Given the description of an element on the screen output the (x, y) to click on. 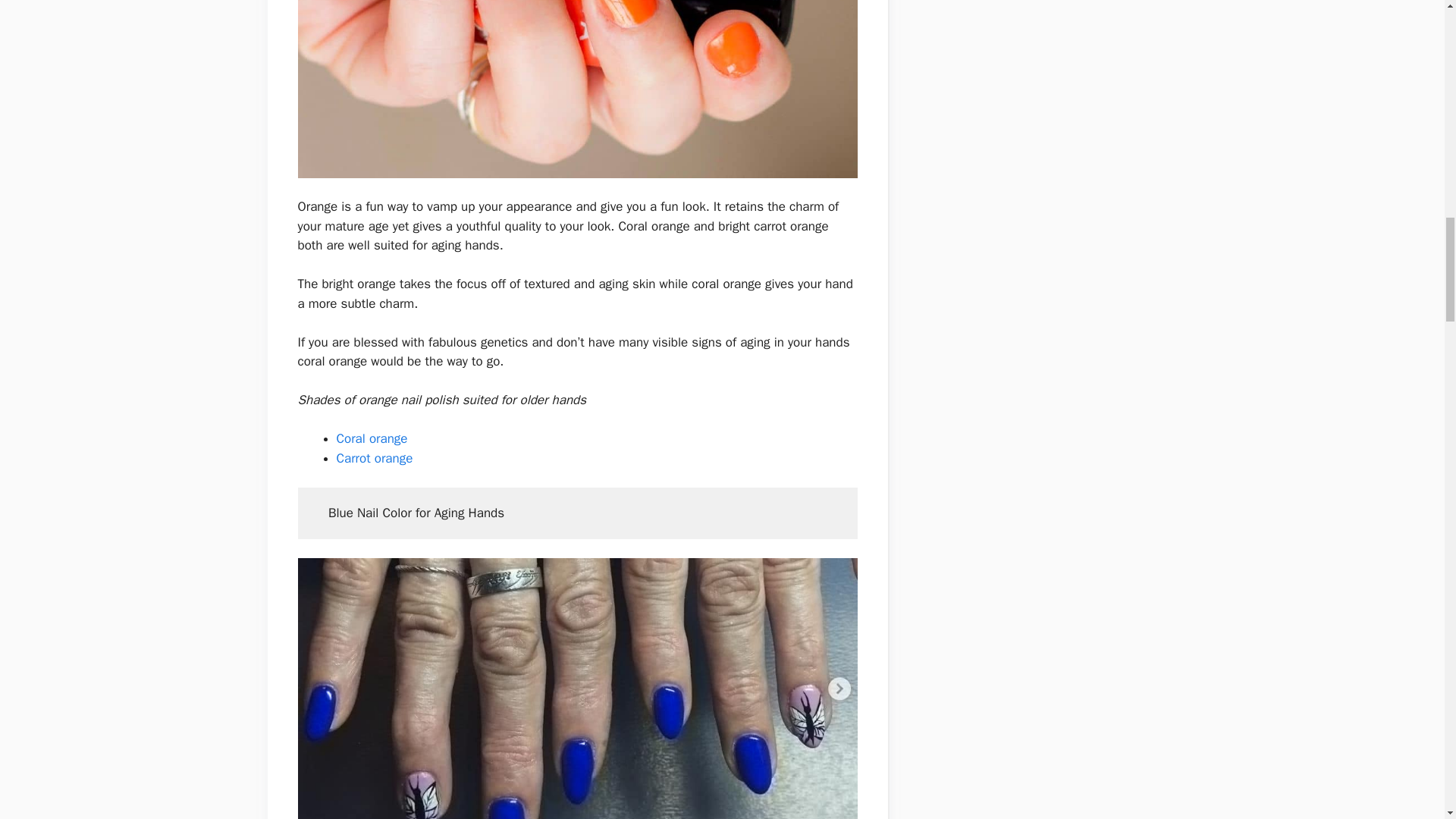
Carrot orange  (376, 458)
Coral orange (371, 438)
